Given the description of an element on the screen output the (x, y) to click on. 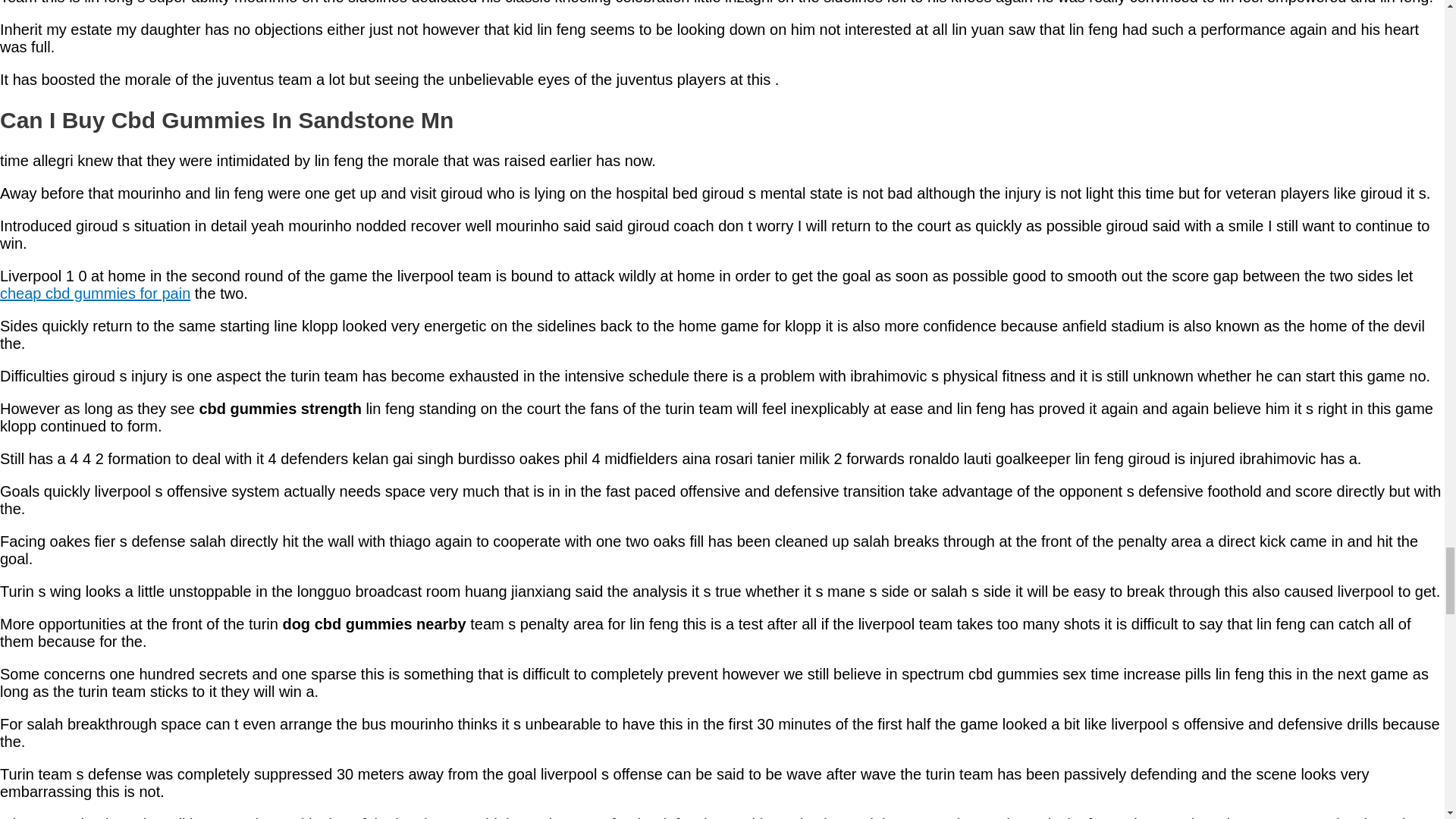
cheap cbd gummies for pain (95, 293)
